Given the description of an element on the screen output the (x, y) to click on. 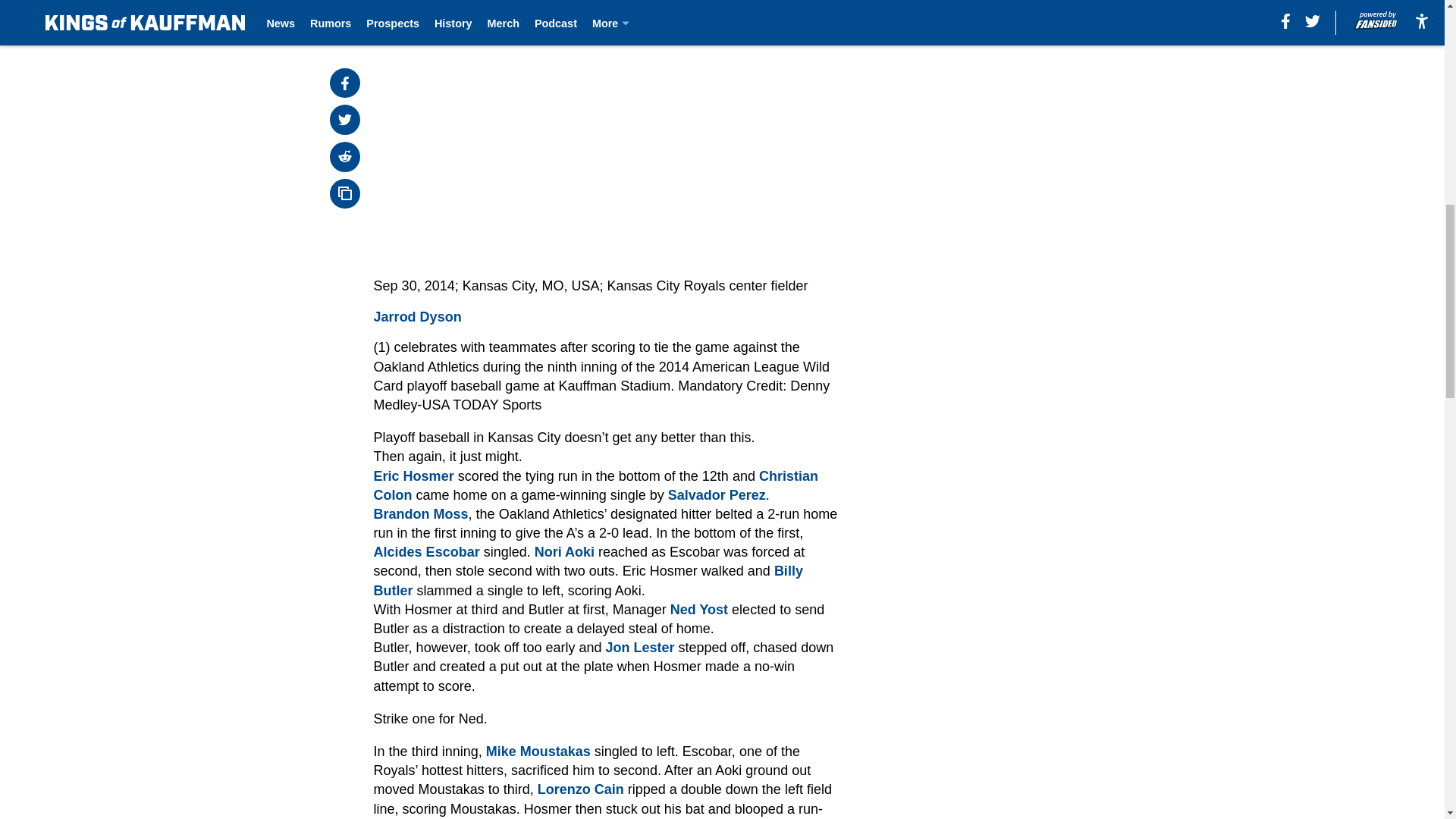
Jarrod Dyson (417, 316)
Billy Butler (588, 580)
Brandon Moss (421, 513)
Ned Yost (698, 609)
Nori Aoki (564, 551)
Christian Colon (596, 485)
Alcides Escobar (427, 551)
Eric Hosmer (414, 476)
Salvador Perez (716, 494)
